Given the description of an element on the screen output the (x, y) to click on. 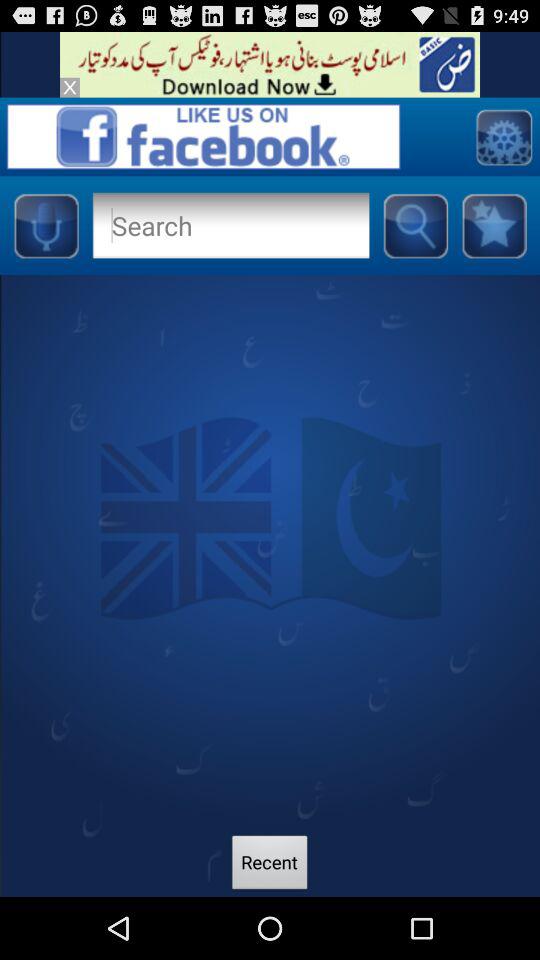
search (415, 225)
